Given the description of an element on the screen output the (x, y) to click on. 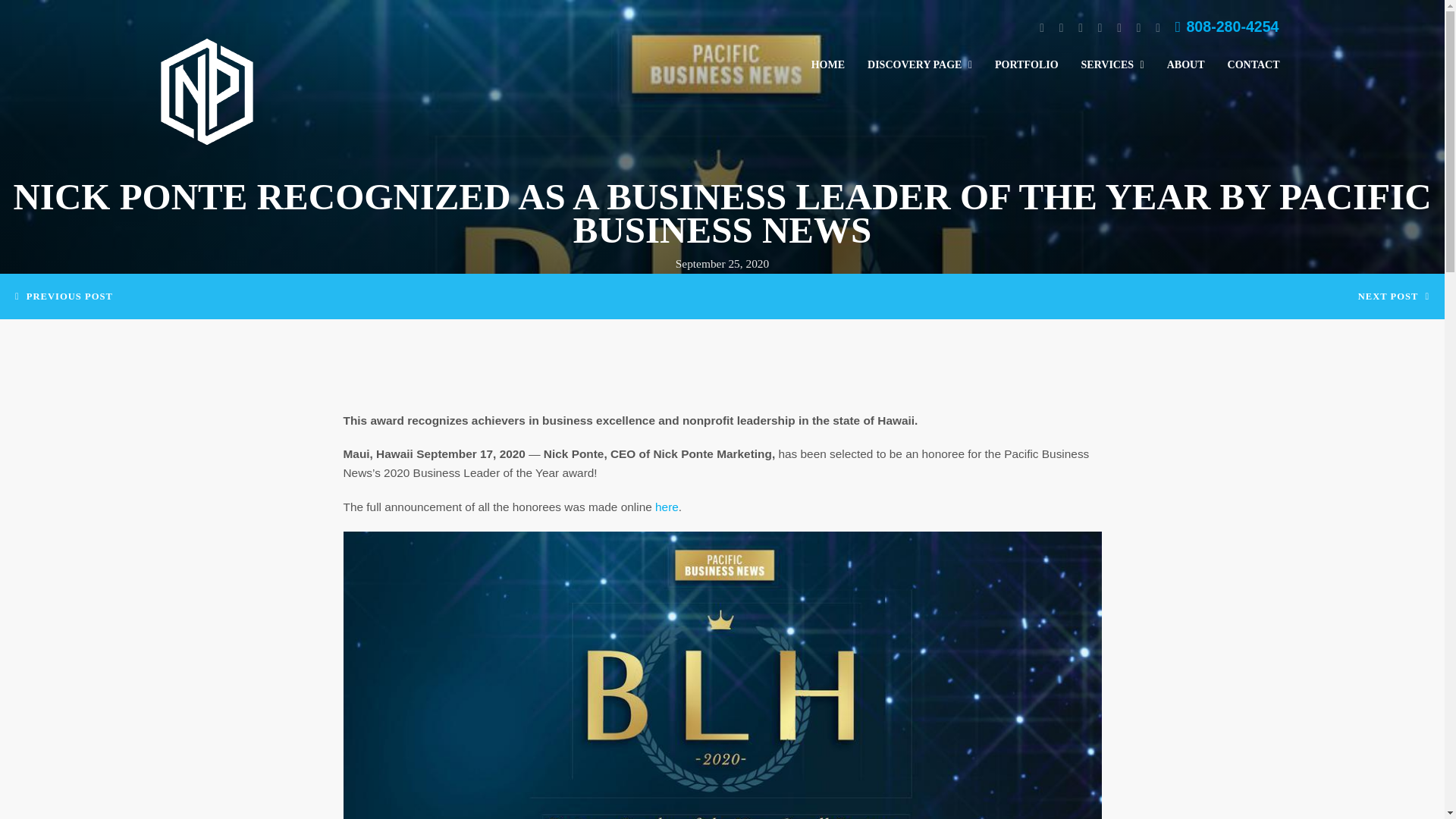
ABOUT (1185, 65)
CONTACT (1254, 65)
SERVICES (1112, 65)
808-280-4254 (1226, 26)
NEXT POST (1393, 296)
PORTFOLIO (1026, 65)
here (666, 506)
PREVIOUS POST (63, 296)
DISCOVERY PAGE (919, 65)
HOME (828, 65)
